Given the description of an element on the screen output the (x, y) to click on. 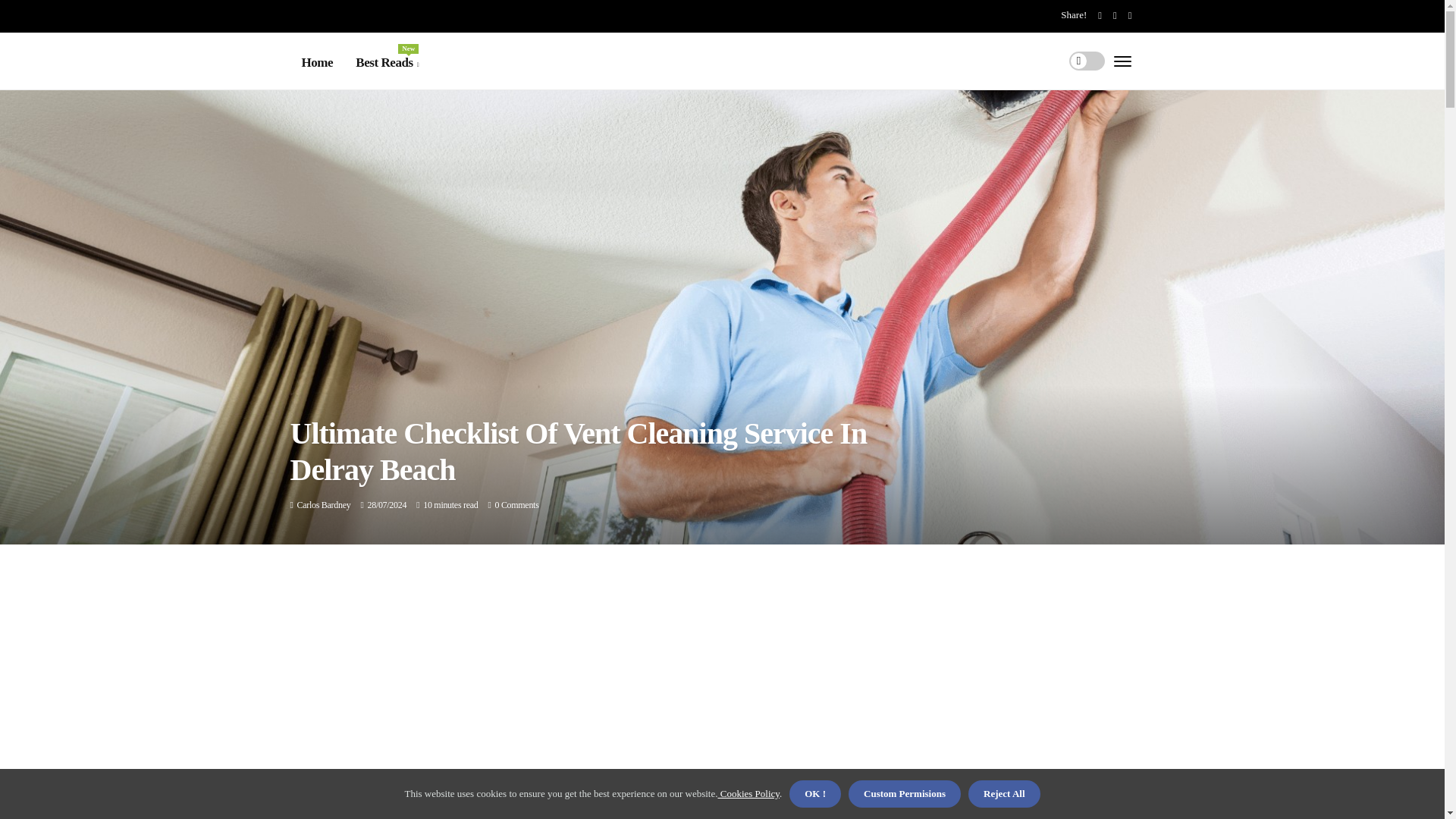
Posts by Carlos Bardney (323, 504)
0 Comments (387, 62)
Carlos Bardney (516, 504)
